Given the description of an element on the screen output the (x, y) to click on. 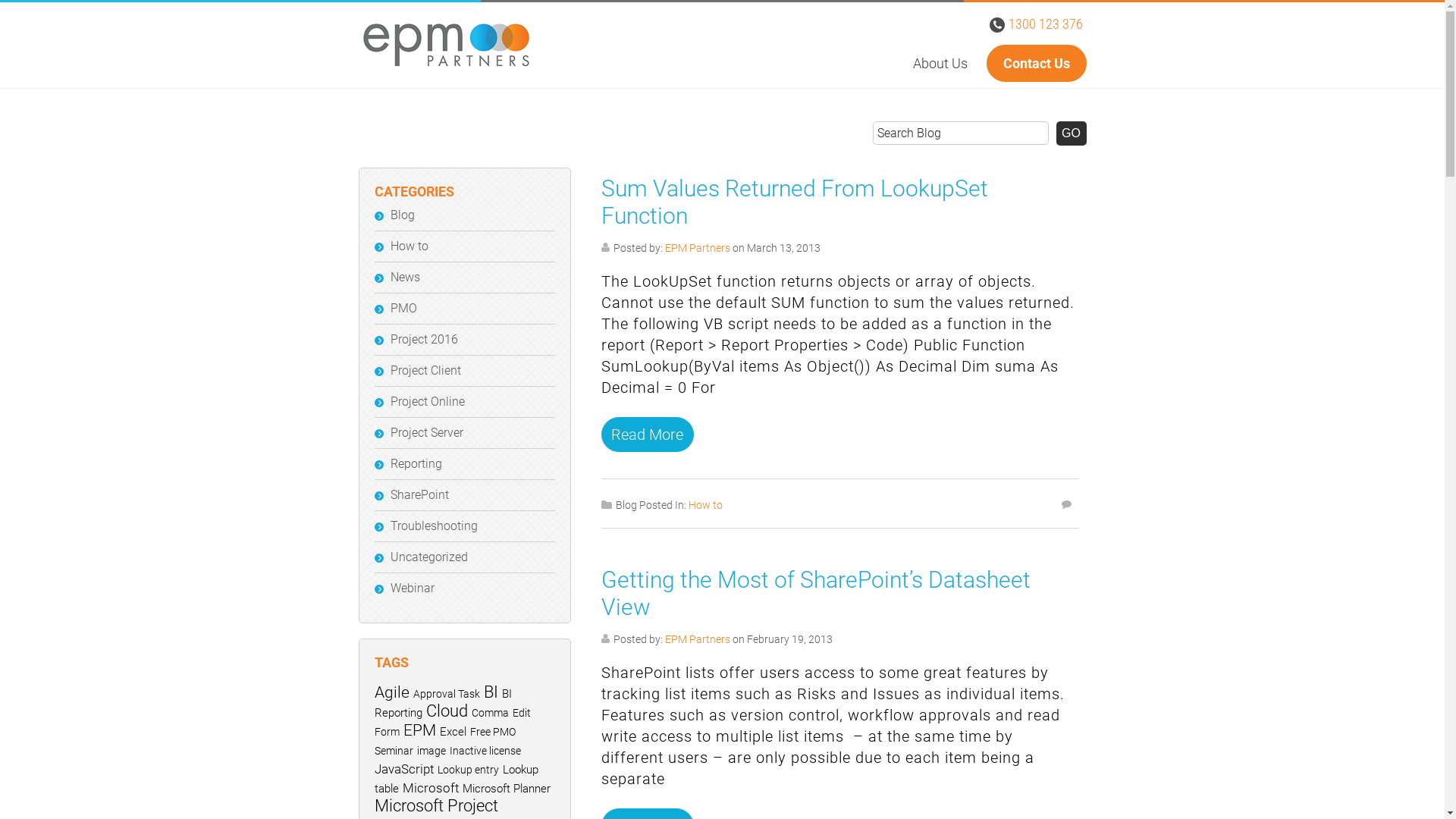
SharePoint Element type: text (418, 494)
EPM Element type: text (419, 729)
Blog Element type: text (401, 214)
Microsoft Planner Element type: text (506, 788)
Troubleshooting Element type: text (432, 525)
BI Element type: text (490, 691)
News Element type: text (404, 276)
PMO Element type: text (402, 308)
Project Online Element type: text (426, 401)
Approval Task Element type: text (445, 693)
Free PMO Seminar Element type: text (444, 740)
Edit Form Element type: text (452, 721)
Project Client Element type: text (424, 370)
Cloud Element type: text (446, 710)
Project 2016 Element type: text (423, 339)
Uncategorized Element type: text (428, 556)
Inactive license Element type: text (484, 750)
How to Element type: text (408, 245)
Comma Element type: text (489, 712)
Reporting Element type: text (415, 463)
About Us Element type: text (940, 64)
Go Element type: text (1070, 133)
Microsoft Project Element type: text (436, 805)
image Element type: text (431, 750)
Microsoft Element type: text (429, 787)
How to Element type: text (705, 504)
Lookup entry Element type: text (467, 769)
Lookup table Element type: text (456, 778)
1300 123 376 Element type: text (1045, 23)
Sum Values Returned From LookupSet Function Element type: text (793, 202)
Webinar Element type: text (411, 587)
BI Reporting Element type: text (442, 703)
Read More Element type: text (646, 434)
Agile Element type: text (391, 691)
Contact Us Element type: text (1035, 63)
Excel Element type: text (452, 731)
Project Server Element type: text (425, 432)
JavaScript Element type: text (403, 768)
